Given the description of an element on the screen output the (x, y) to click on. 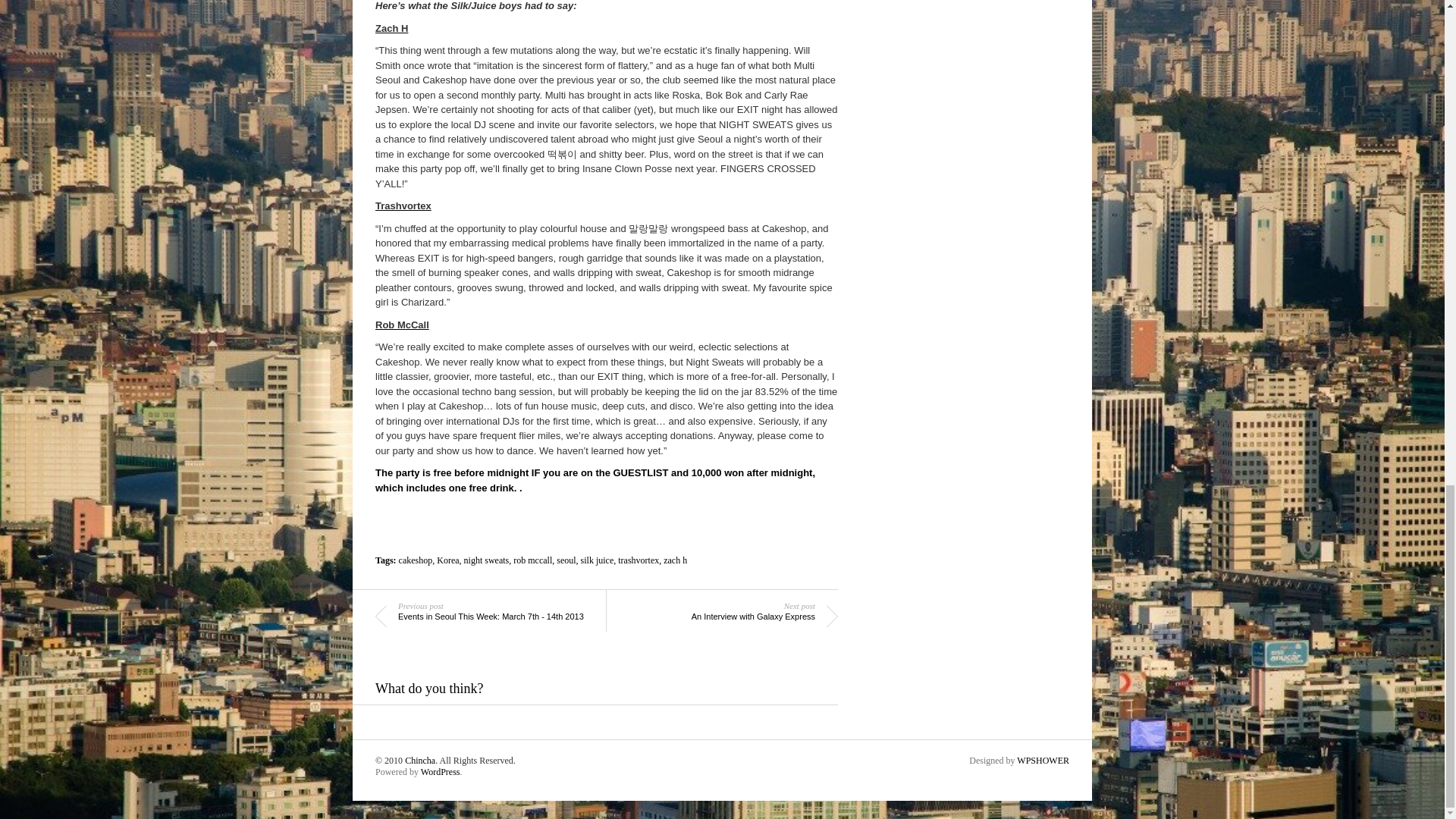
Rob McCall (402, 324)
Zach H (391, 28)
Trashvortex (402, 205)
